Given the description of an element on the screen output the (x, y) to click on. 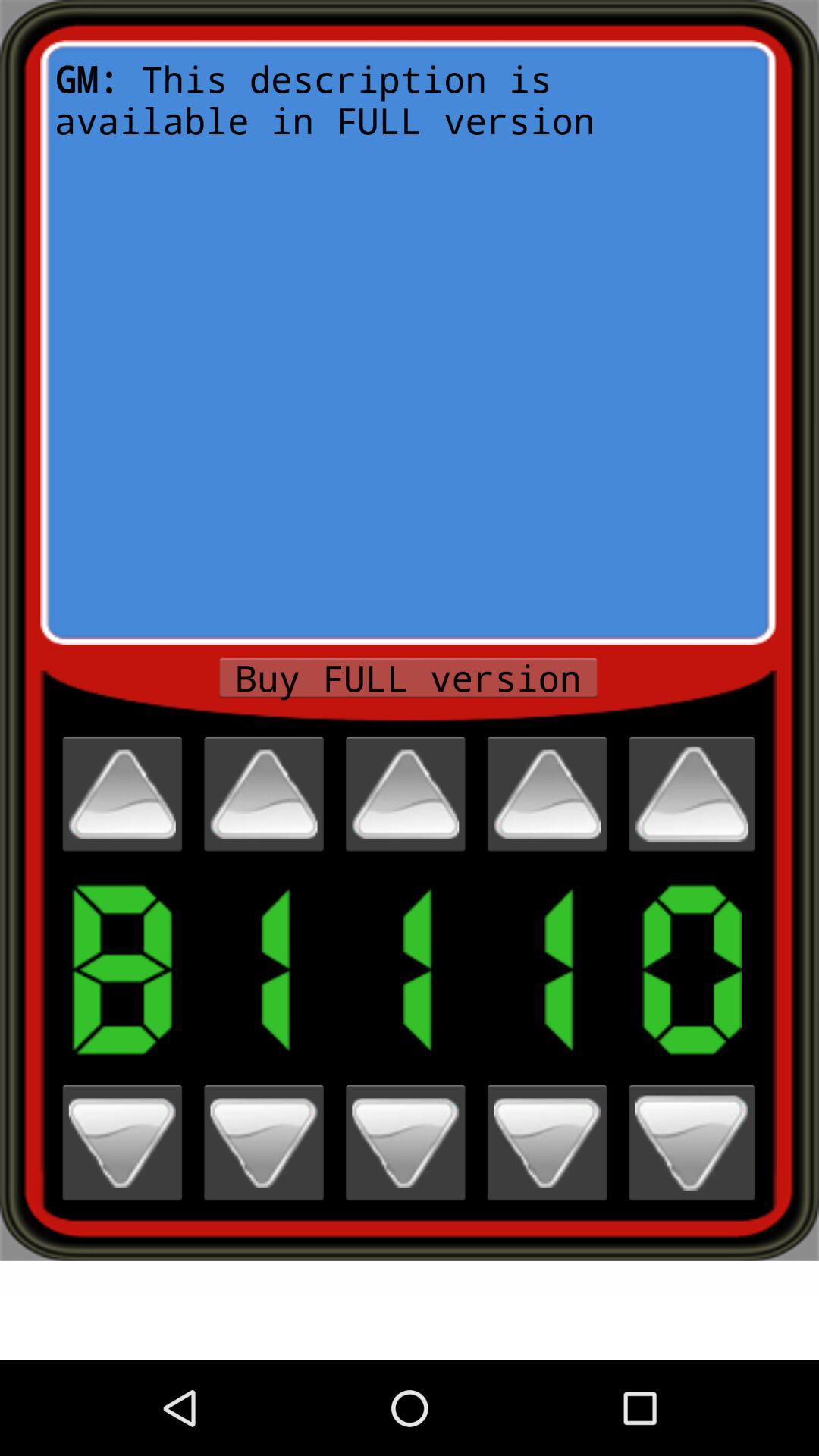
go to previous (263, 794)
